Given the description of an element on the screen output the (x, y) to click on. 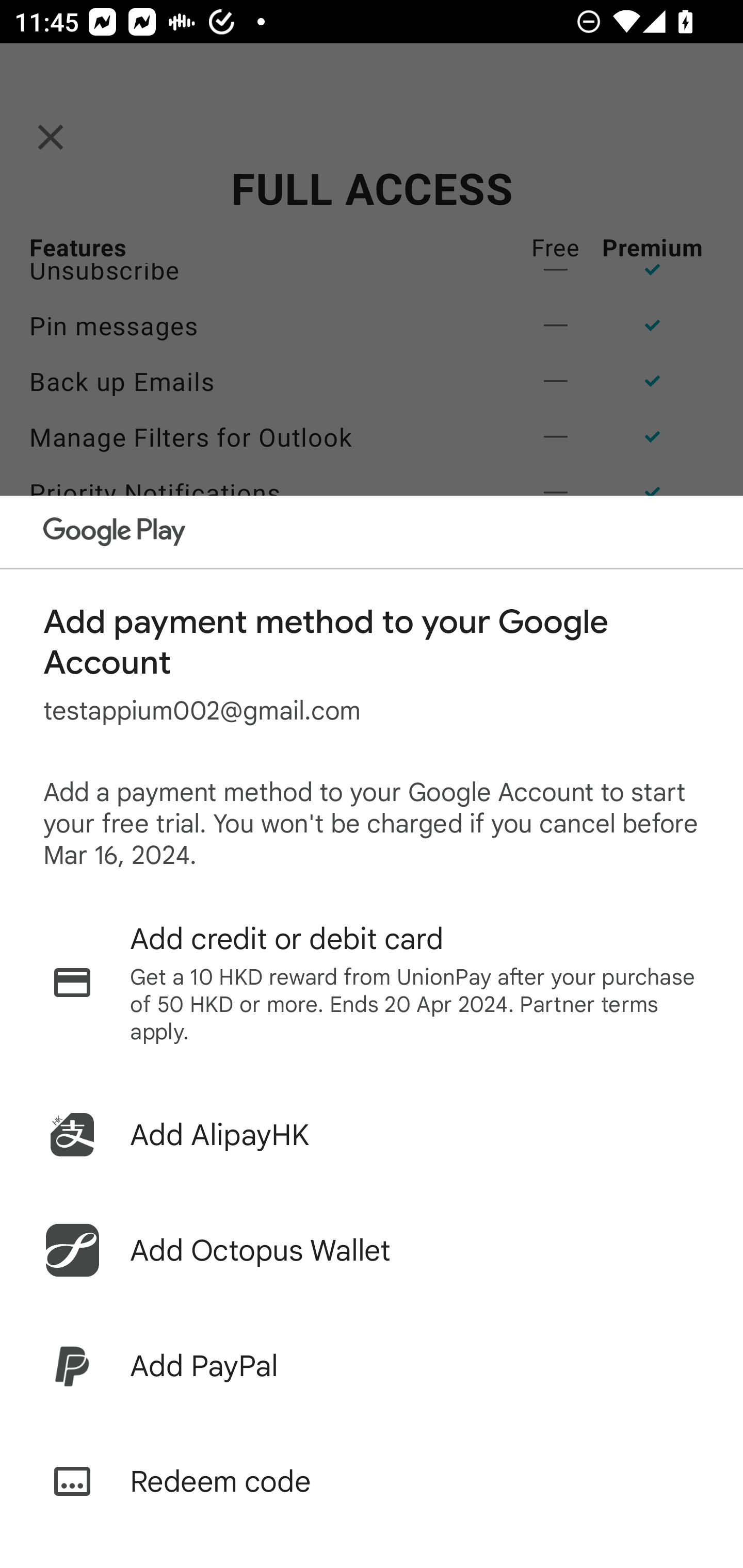
Add AlipayHK (371, 1135)
Add Octopus Wallet (371, 1250)
Add PayPal (371, 1365)
Redeem code (371, 1481)
